Given the description of an element on the screen output the (x, y) to click on. 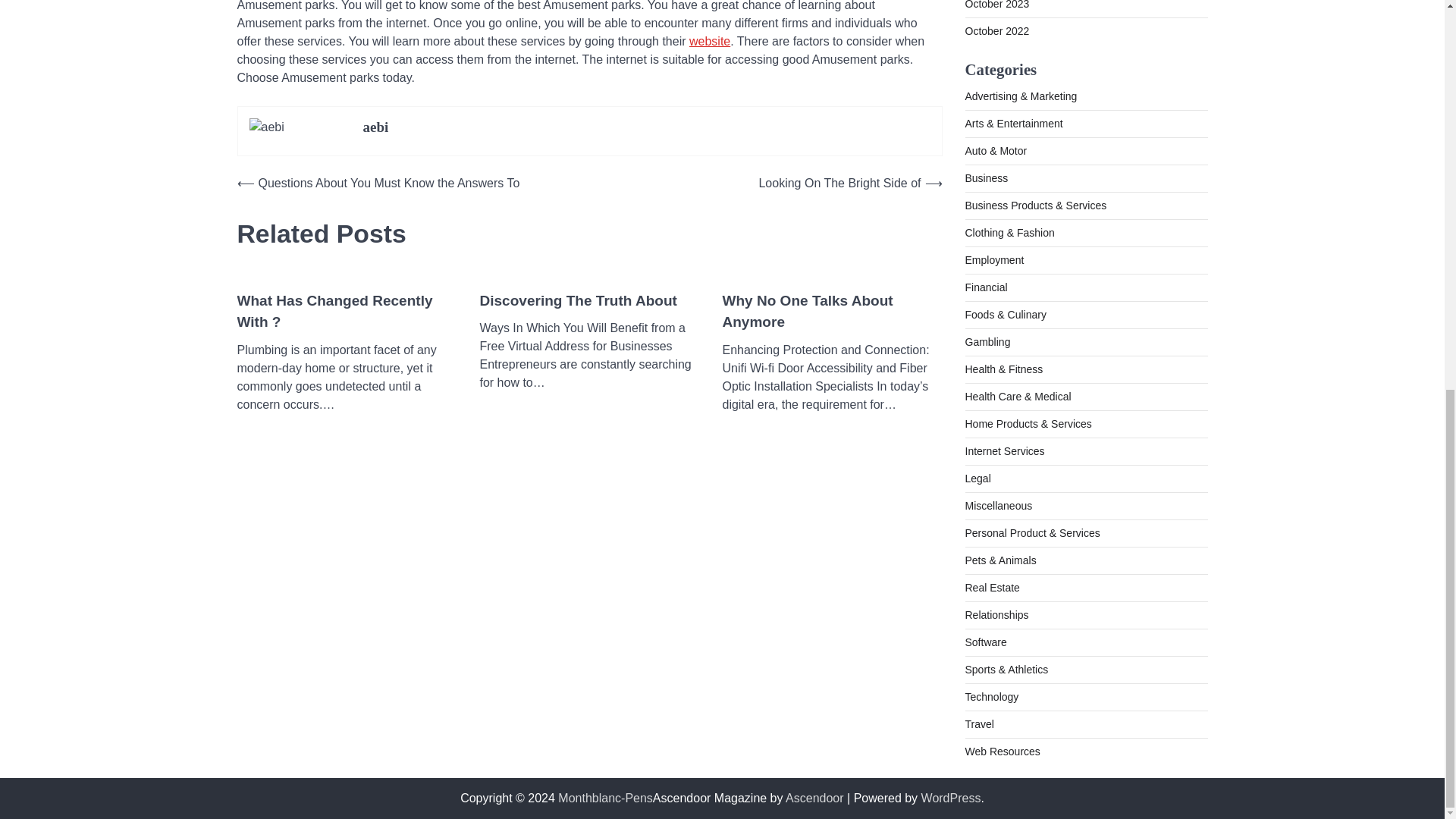
October 2022 (996, 30)
October 2023 (996, 4)
Discovering The Truth About (578, 301)
Business (985, 177)
Why No One Talks About Anymore (832, 311)
What Has Changed Recently With ? (346, 311)
website (709, 41)
